Given the description of an element on the screen output the (x, y) to click on. 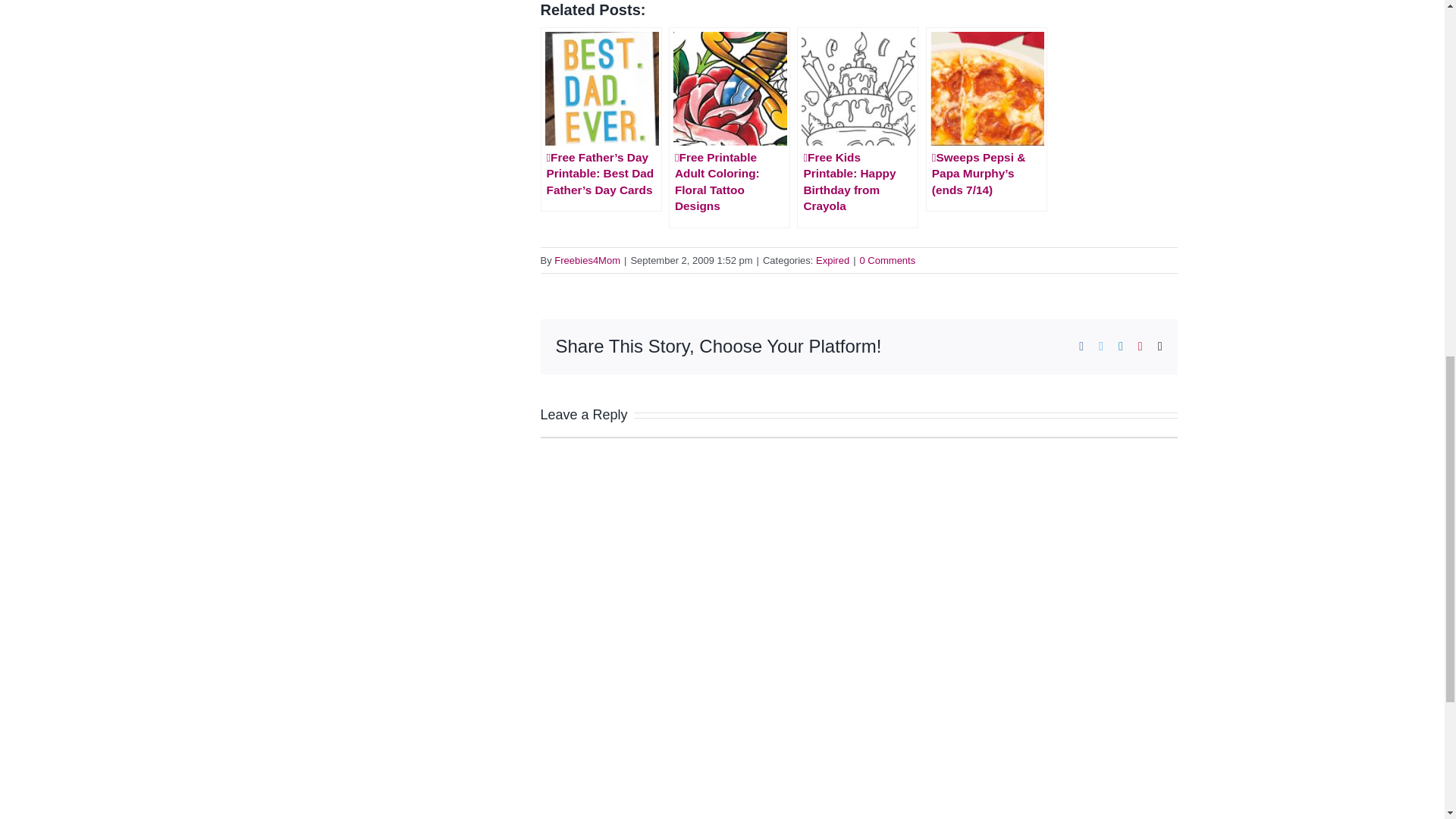
Posts by Freebies4Mom (587, 260)
